Given the description of an element on the screen output the (x, y) to click on. 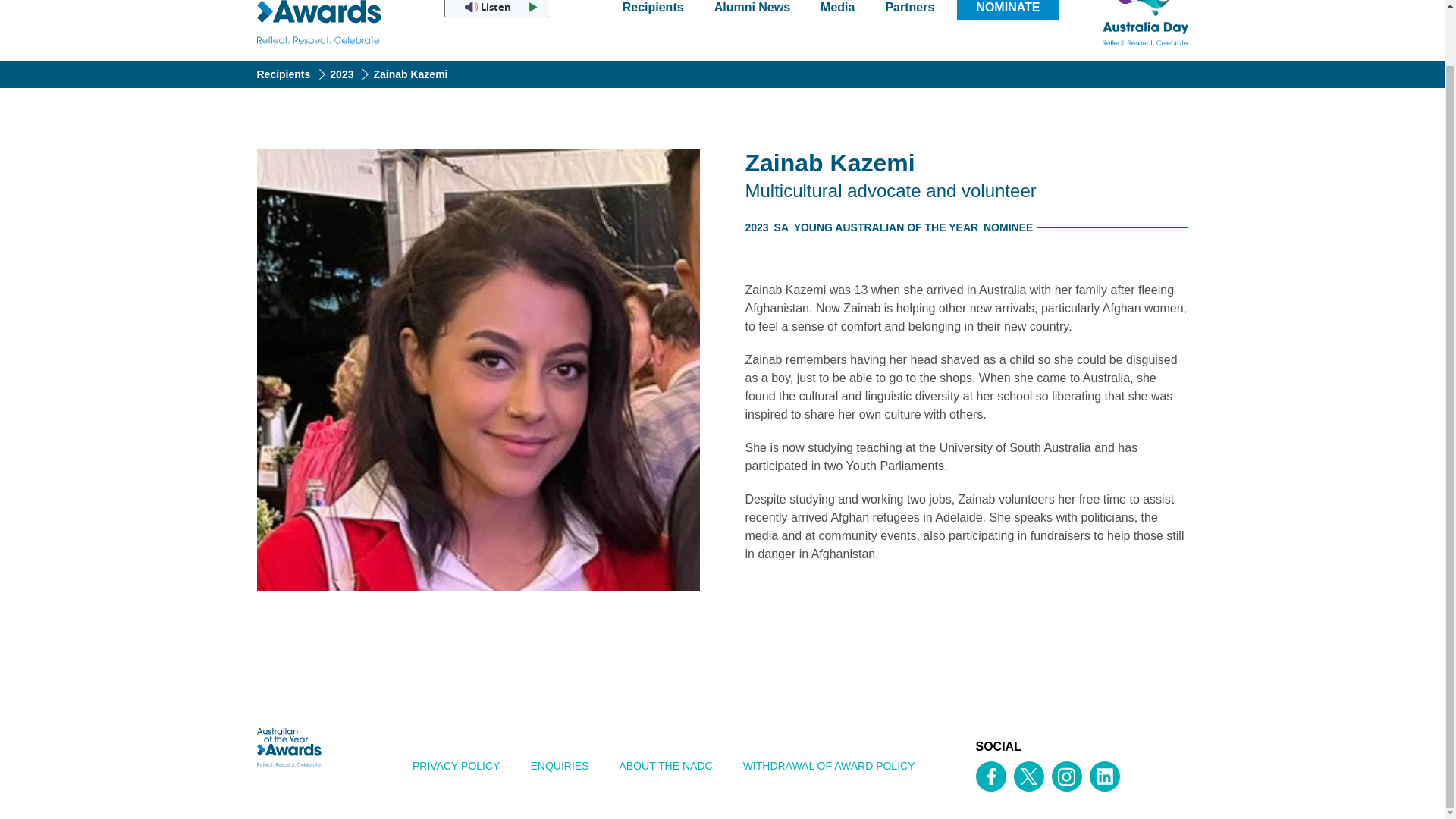
Australian of the Year (320, 22)
Visit Australia Day Website (1123, 22)
Recipients (652, 9)
Alumni News (751, 9)
Media (837, 9)
ENQUIRIES (559, 766)
Alumni News (751, 9)
PRIVACY POLICY (456, 766)
Listen (495, 8)
2023 (351, 73)
